Given the description of an element on the screen output the (x, y) to click on. 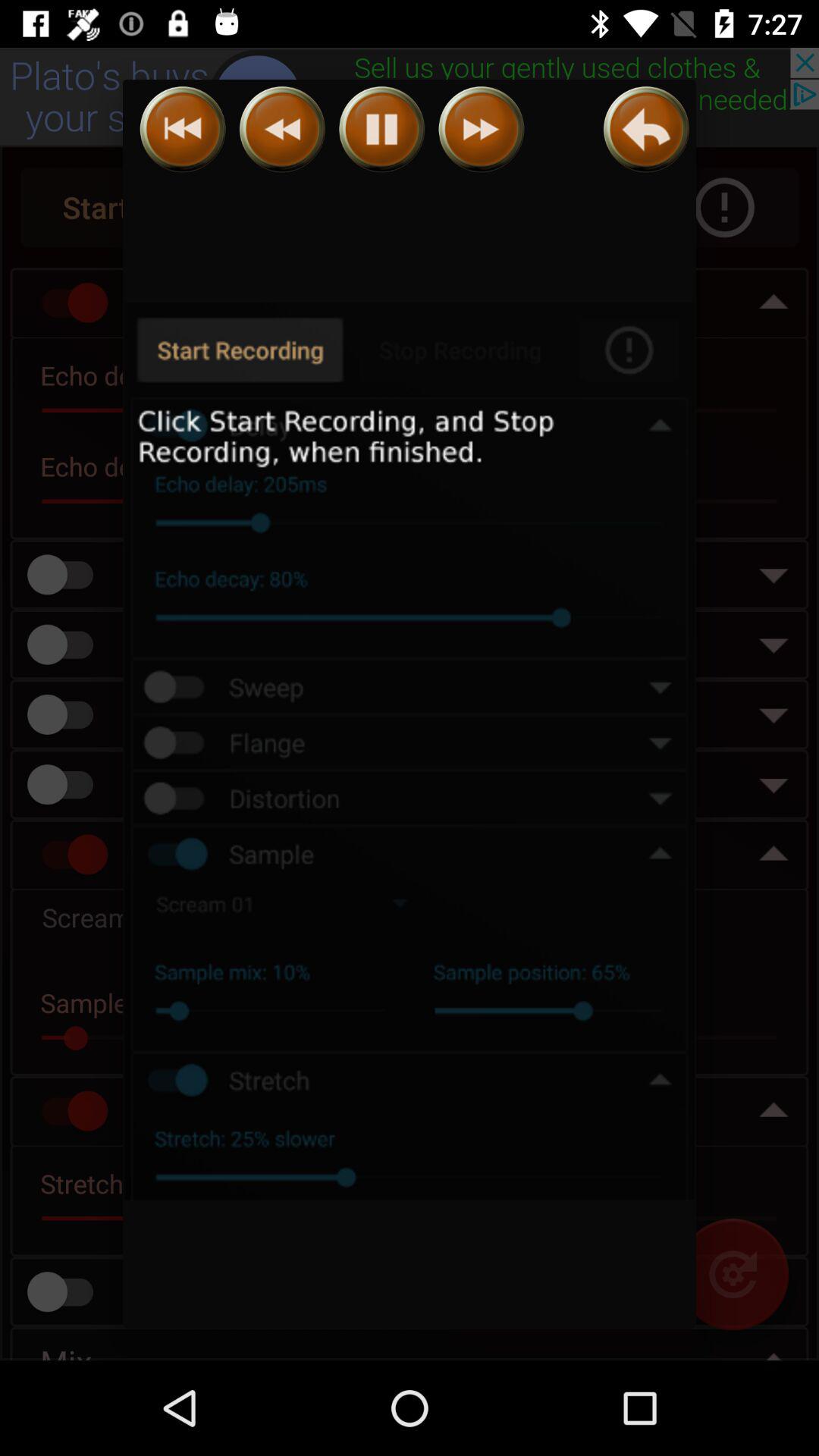
go back (646, 129)
